Given the description of an element on the screen output the (x, y) to click on. 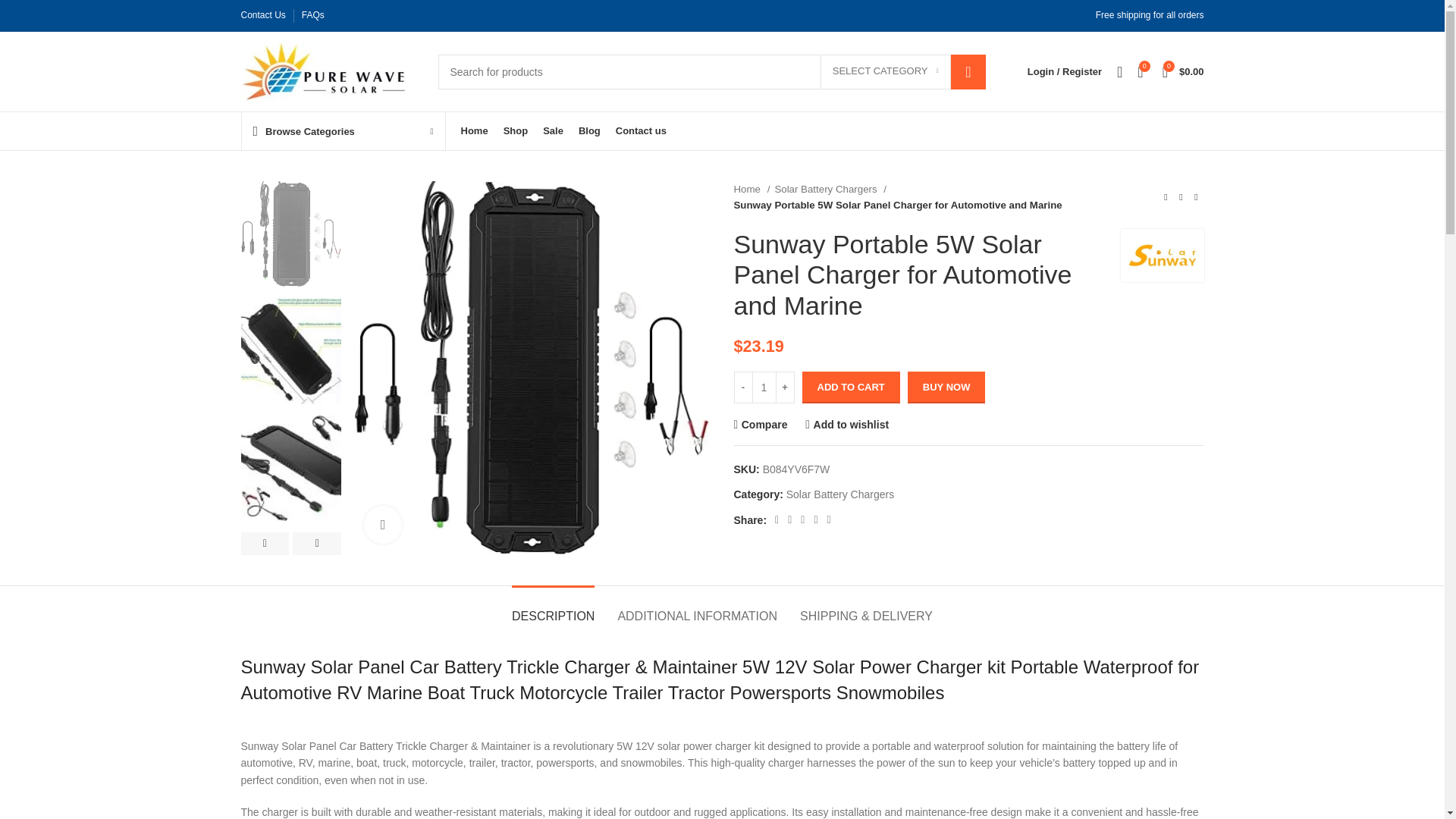
Search for products (711, 71)
PREVIOUS (265, 543)
SEARCH (967, 71)
SELECT CATEGORY (885, 70)
SELECT CATEGORY (885, 70)
Contact Us (263, 15)
Contact us (640, 131)
Shopping cart (1182, 71)
My account (1064, 71)
Home (474, 131)
